Given the description of an element on the screen output the (x, y) to click on. 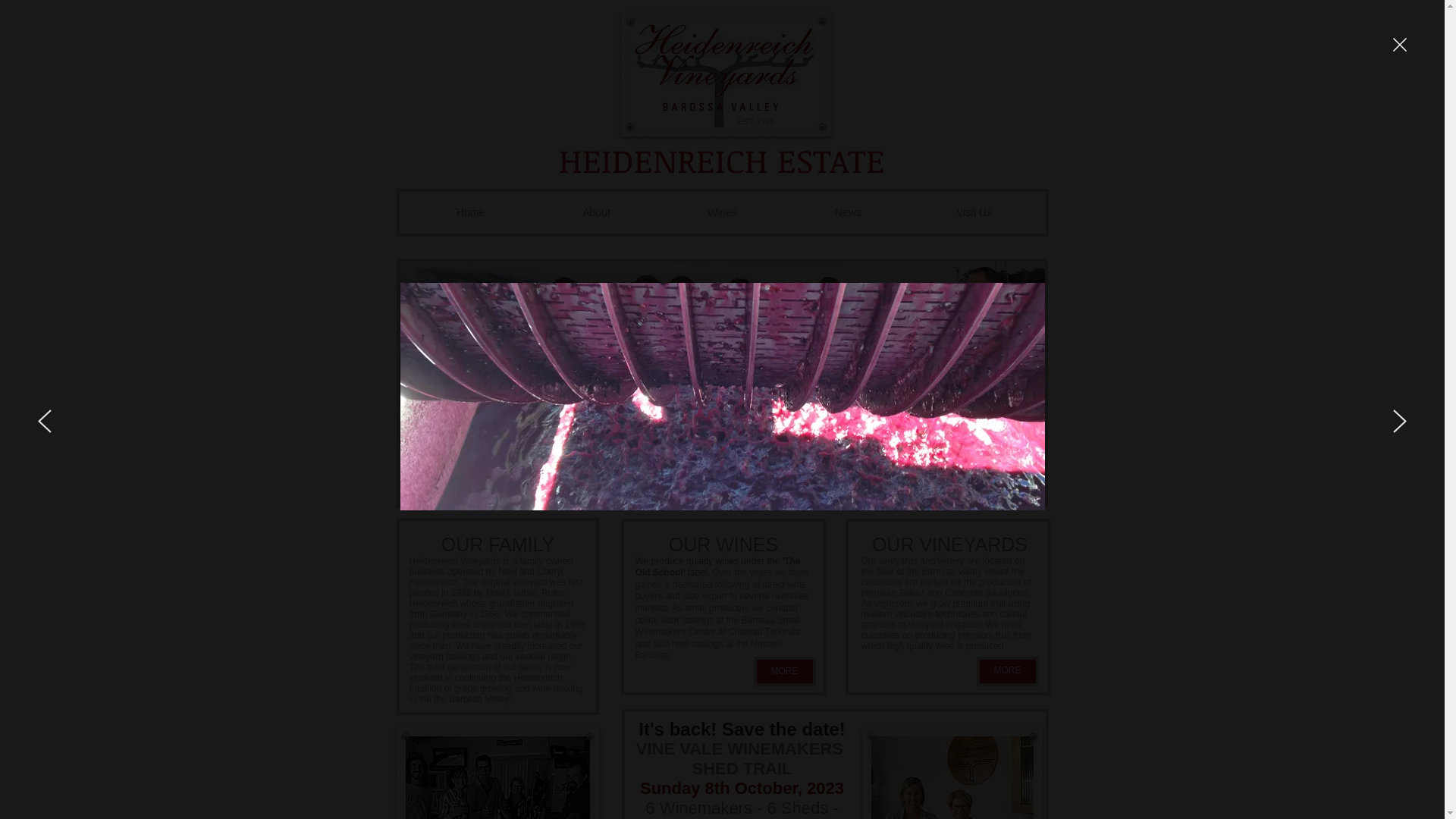
Visit Us Element type: text (974, 212)
About Element type: text (596, 212)
Wines Element type: text (722, 212)
Home Element type: text (470, 212)
MORE Element type: text (784, 671)
News Element type: text (848, 212)
MORE Element type: text (1007, 671)
